Given the description of an element on the screen output the (x, y) to click on. 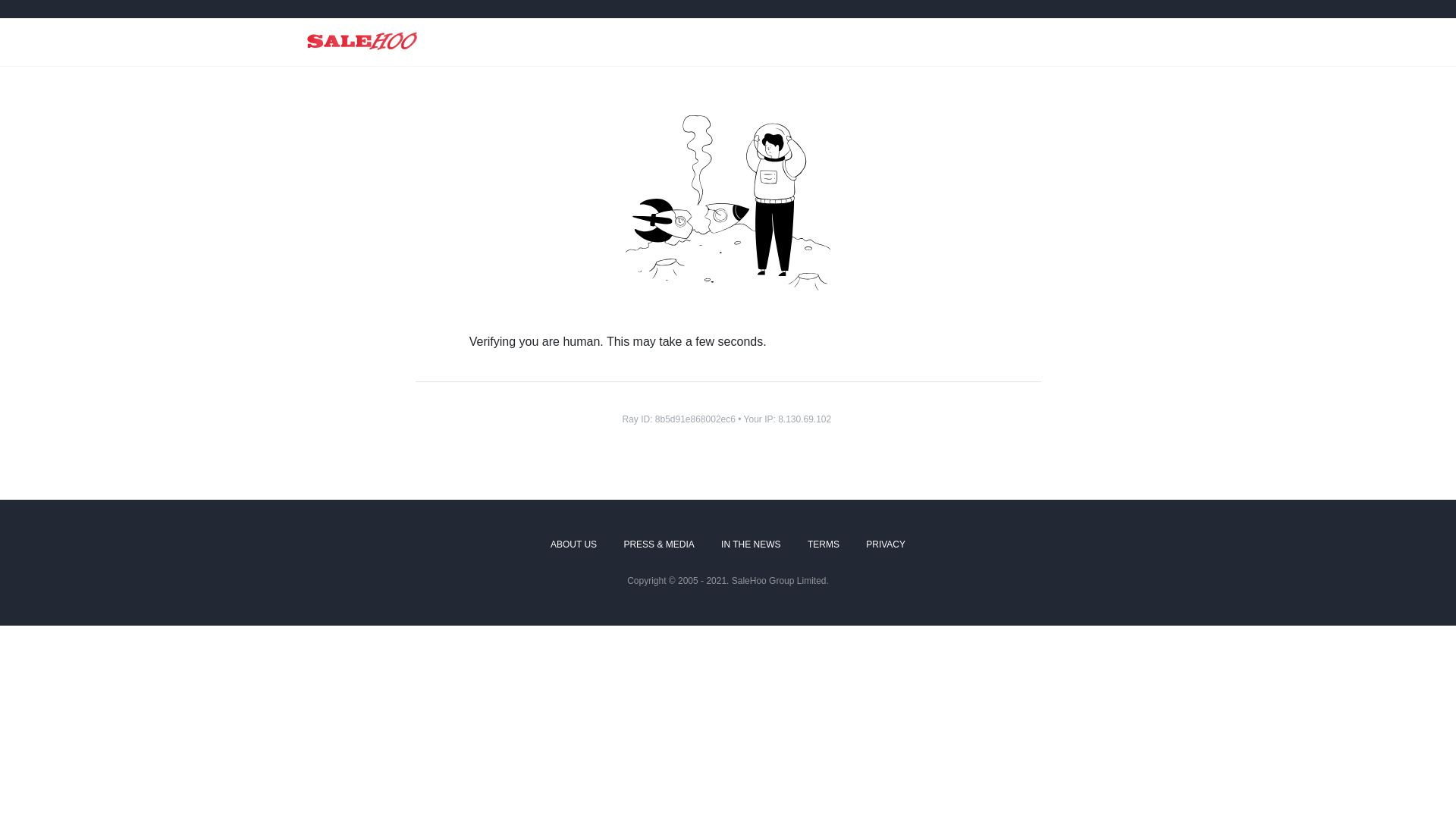
ABOUT US (573, 545)
TERMS (824, 545)
IN THE NEWS (750, 545)
PRIVACY (885, 545)
